Given the description of an element on the screen output the (x, y) to click on. 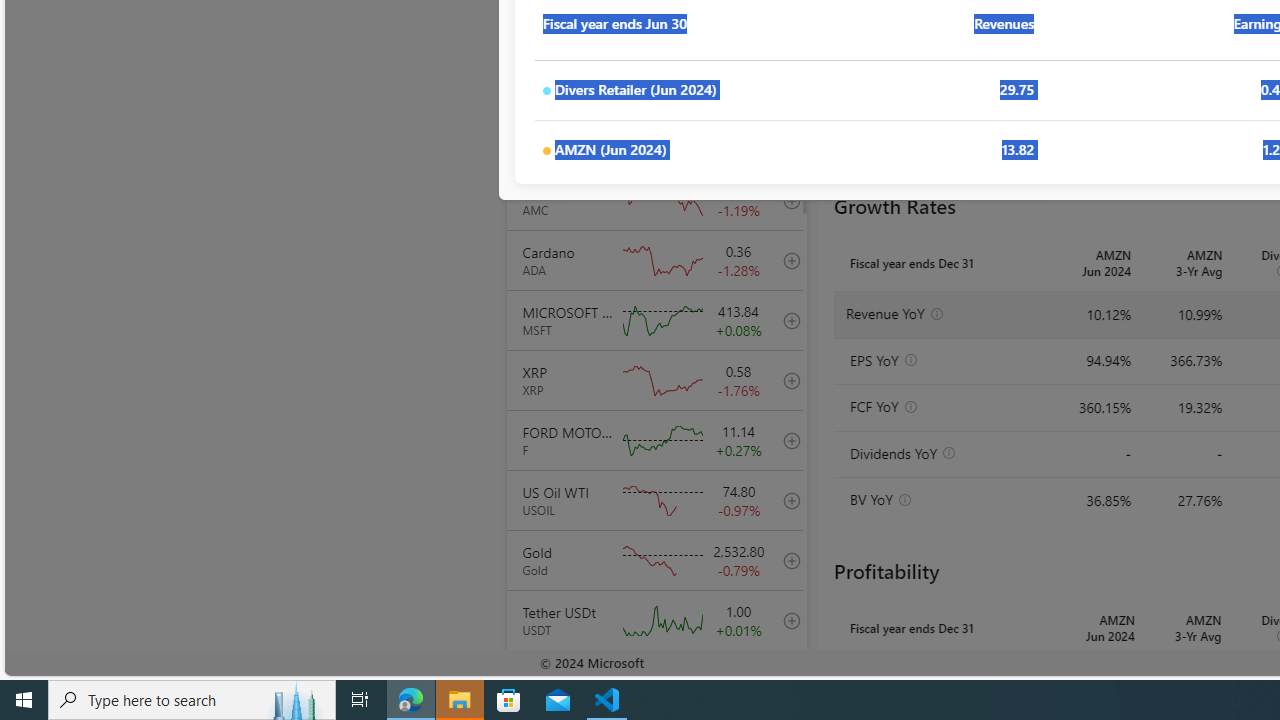
add to your watchlist (786, 680)
Class: symbolDot-DS-EntryPoint1-2 (546, 151)
